Given the description of an element on the screen output the (x, y) to click on. 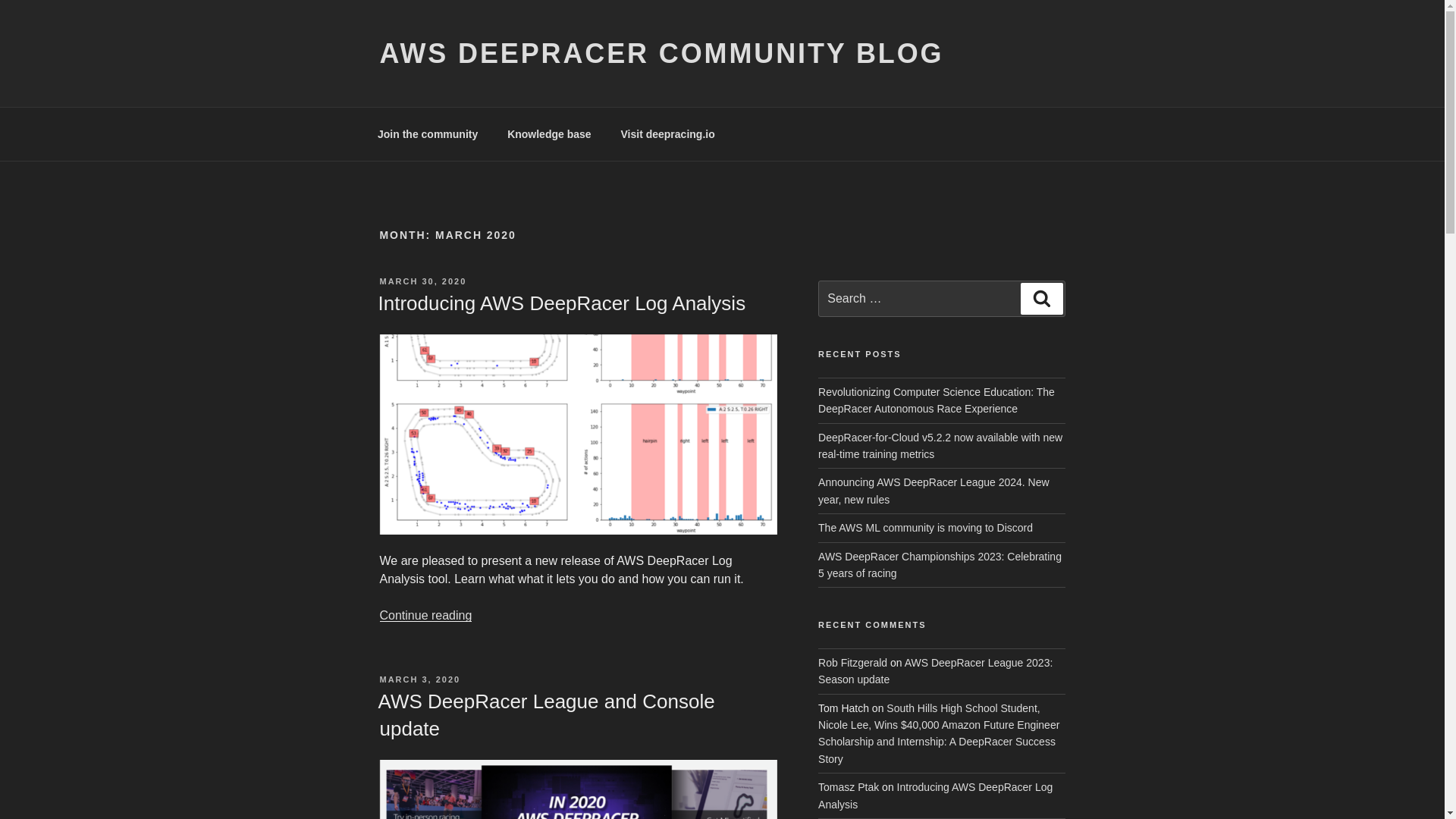
MARCH 3, 2020 (419, 678)
Tomasz Ptak (848, 787)
Search (1041, 298)
Rob Fitzgerald (852, 662)
The AWS ML community is moving to Discord (925, 527)
Visit deepracing.io (667, 133)
AWS DEEPRACER COMMUNITY BLOG (660, 52)
AWS DeepRacer League 2023: Season update (935, 670)
Announcing AWS DeepRacer League 2024. New year, new rules (933, 490)
